Given the description of an element on the screen output the (x, y) to click on. 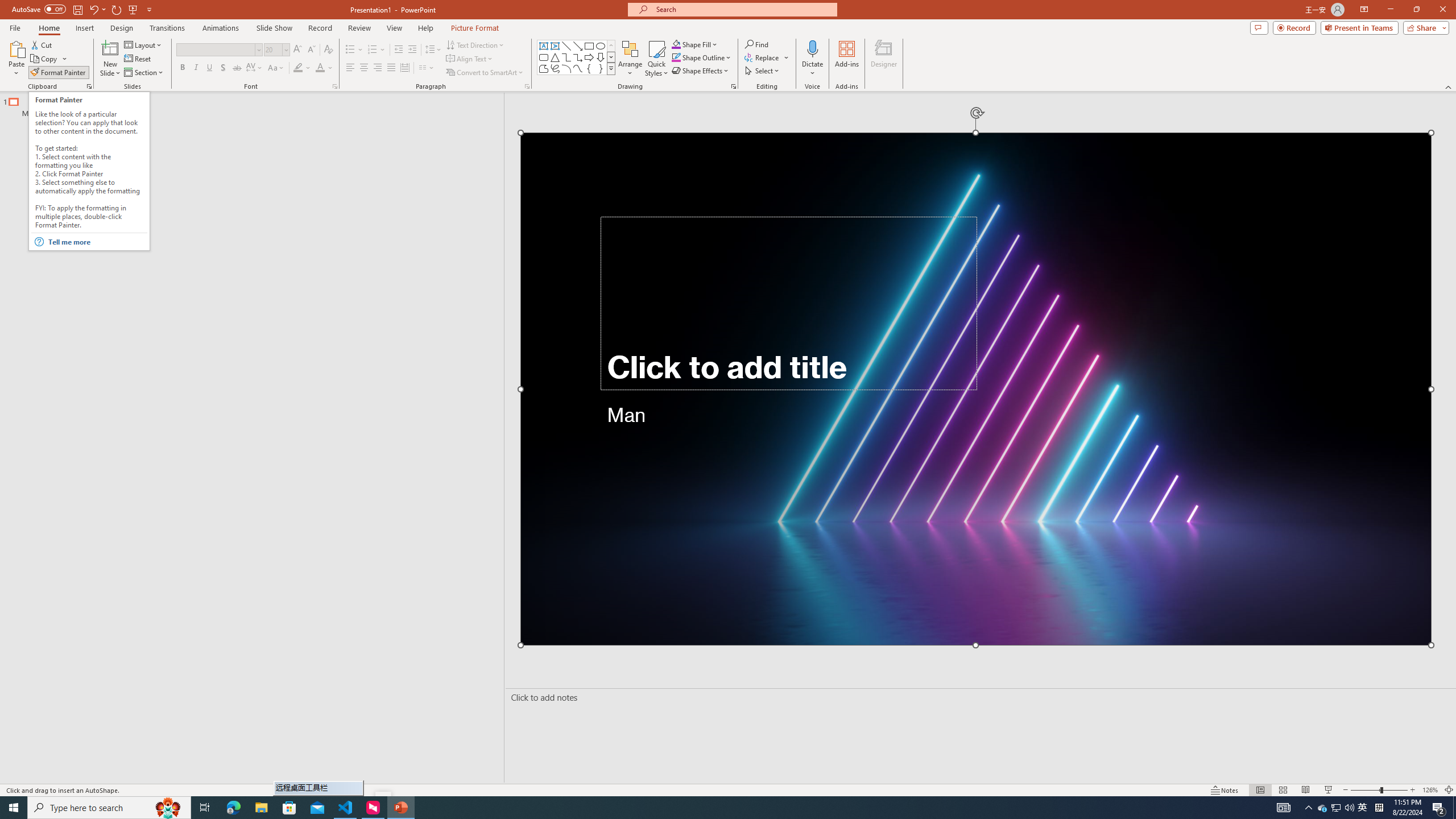
Clear Formatting (327, 49)
Reset (138, 58)
Shadow (223, 67)
Paragraph... (526, 85)
Decrease Indent (398, 49)
Picture Format (475, 28)
Align Left (349, 67)
